Given the description of an element on the screen output the (x, y) to click on. 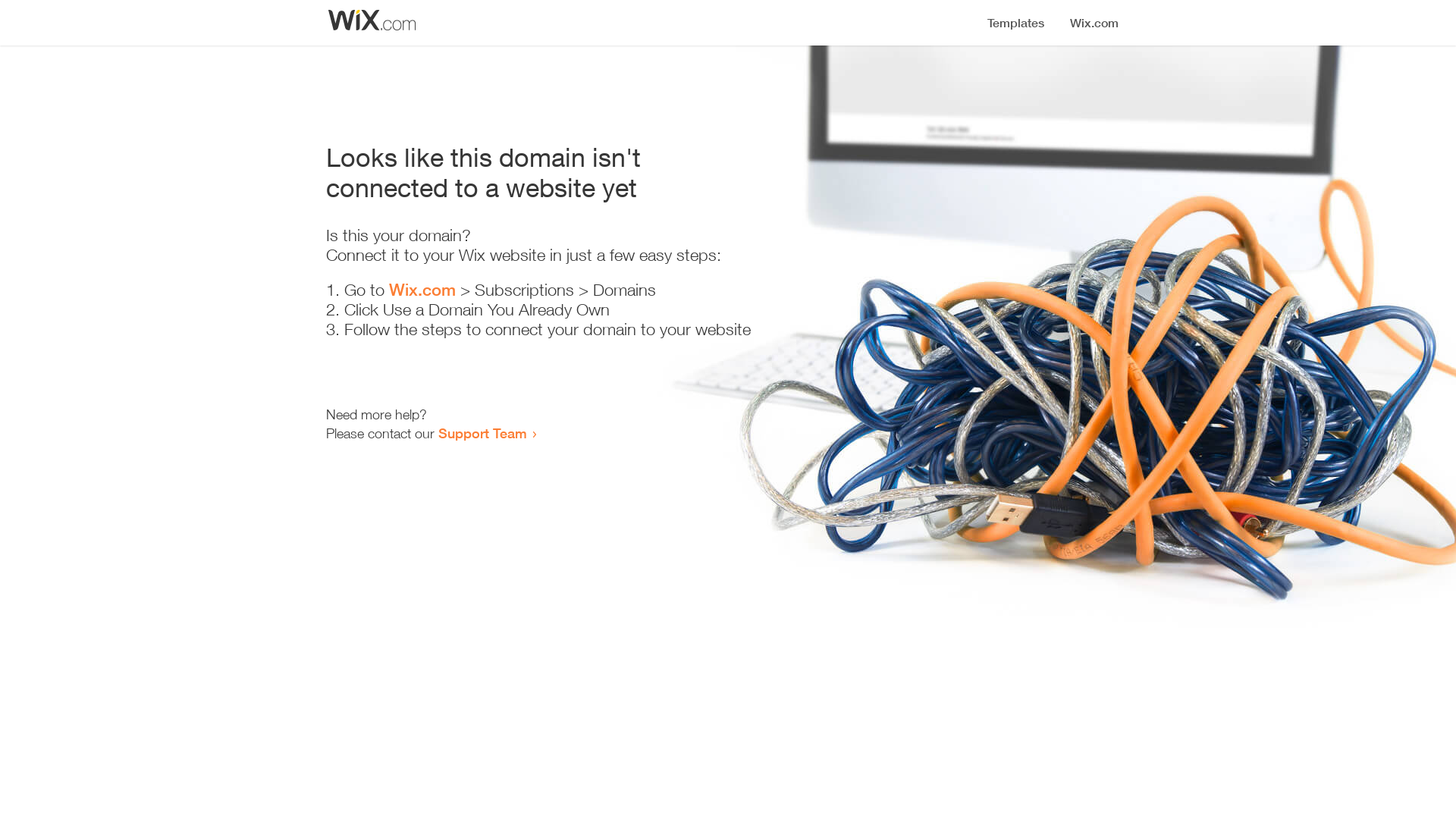
Support Team Element type: text (482, 432)
Wix.com Element type: text (422, 289)
